Given the description of an element on the screen output the (x, y) to click on. 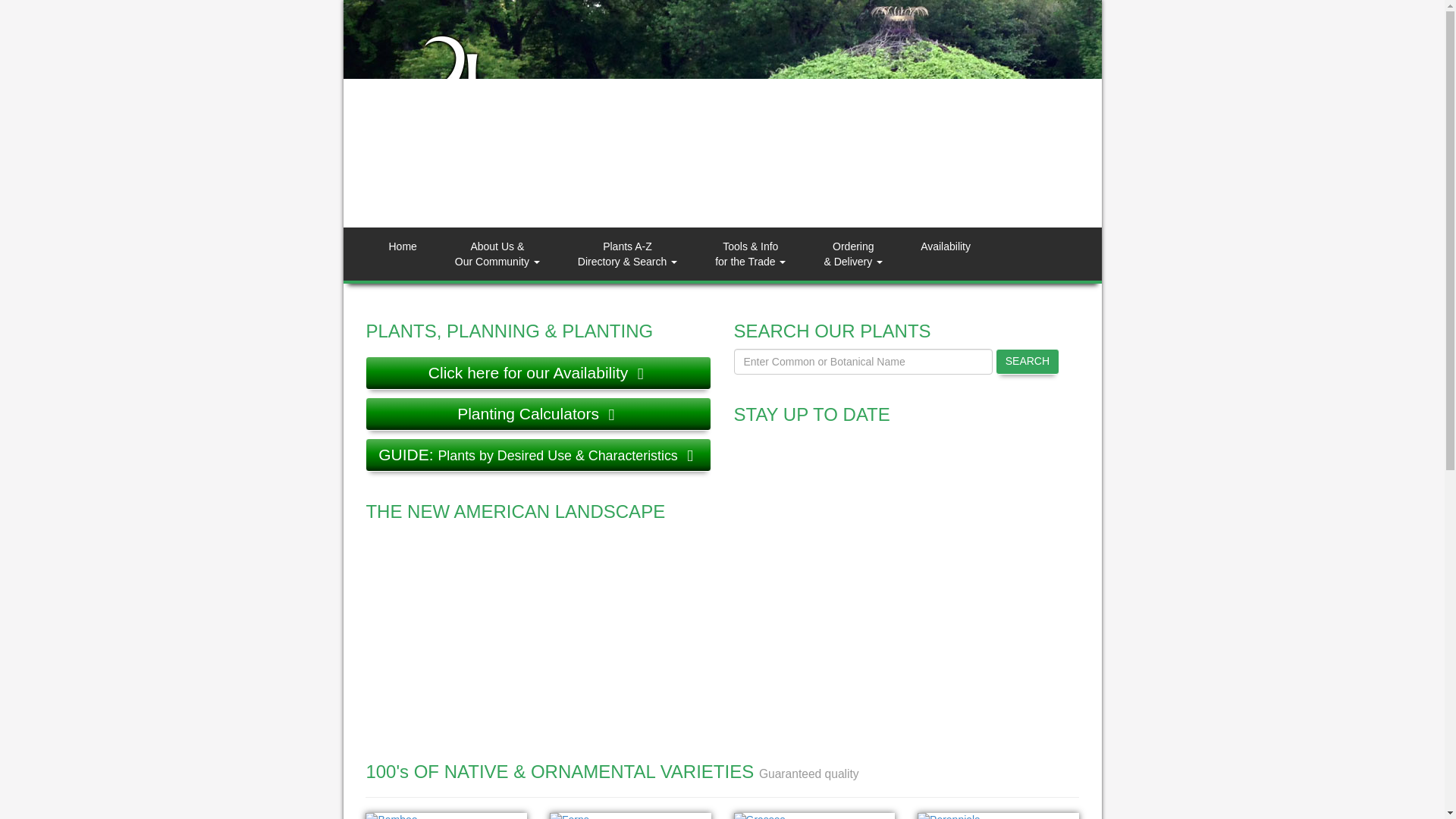
Plant Shown: Anthrium Filix-Femina Lady Fern (630, 816)
Click here for our Availability (537, 372)
Plant Shown: Phyllostachys nuda (446, 816)
Plant Shown: Rudbeckia fulgida 'Goldstrum' Black-Eyed Susan (997, 816)
Availability (945, 253)
Home (402, 253)
Planting Calculators (537, 413)
SEARCH (1027, 361)
